Given the description of an element on the screen output the (x, y) to click on. 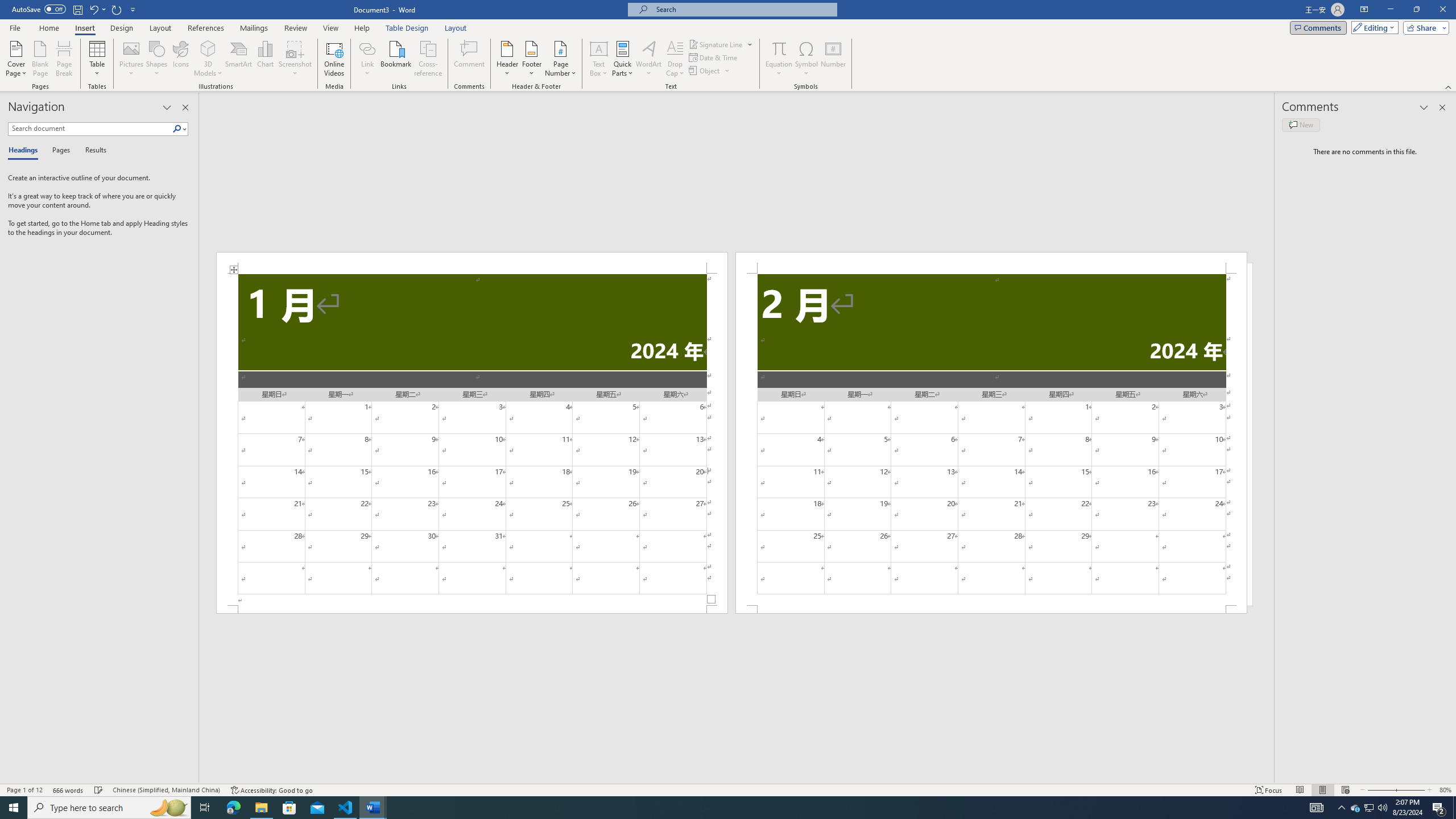
Repeat Doc Close (117, 9)
Icons (180, 58)
Link (367, 48)
Online Videos... (333, 58)
Undo Increase Indent (92, 9)
Quick Parts (622, 58)
Bookmark... (396, 58)
Symbol (806, 58)
